Given the description of an element on the screen output the (x, y) to click on. 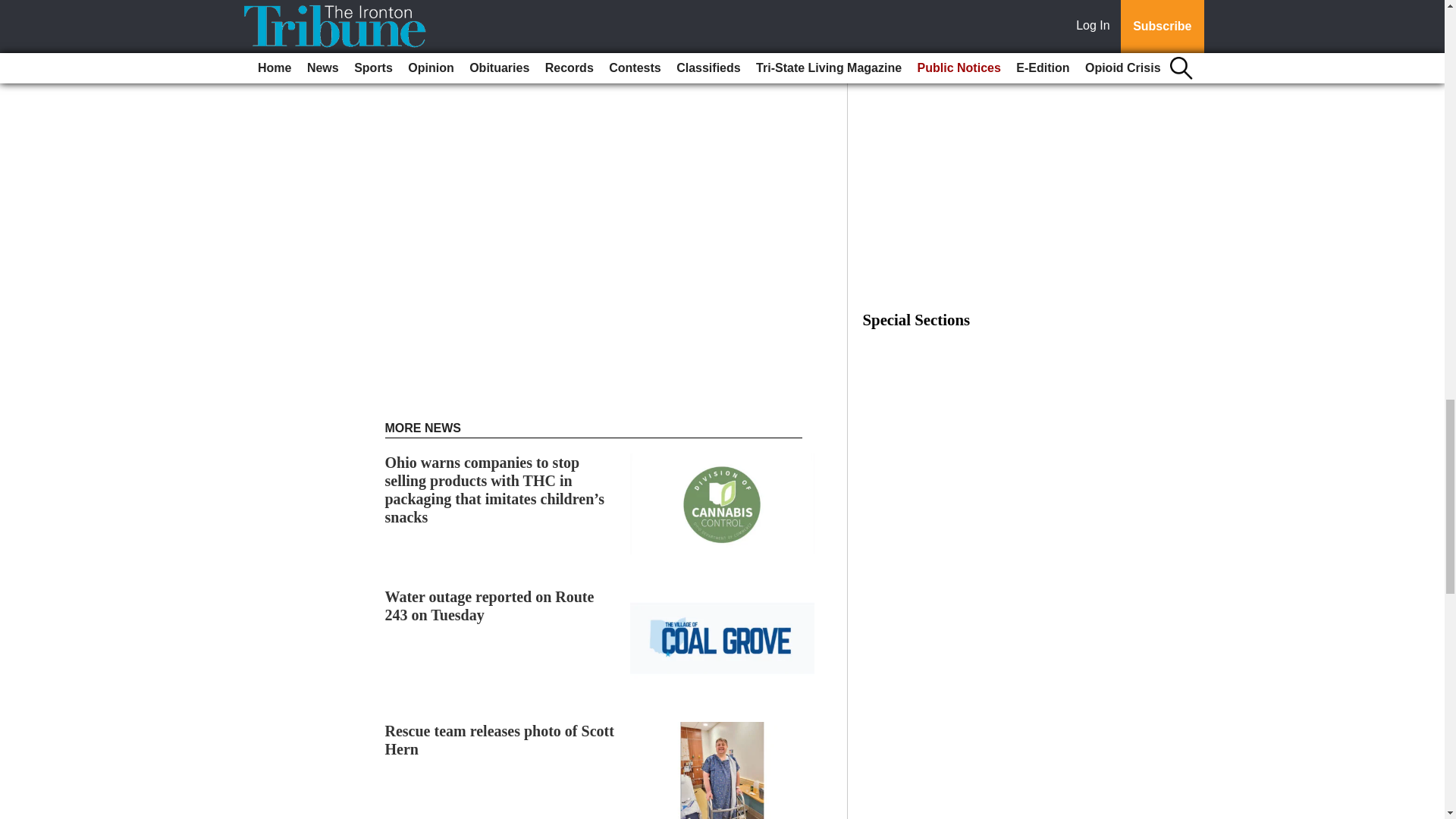
Water outage reported on Route 243 on Tuesday (489, 605)
Rescue team releases photo of Scott Hern (499, 739)
Water outage reported on Route 243 on Tuesday (489, 605)
Rescue team releases photo of Scott Hern (499, 739)
